Given the description of an element on the screen output the (x, y) to click on. 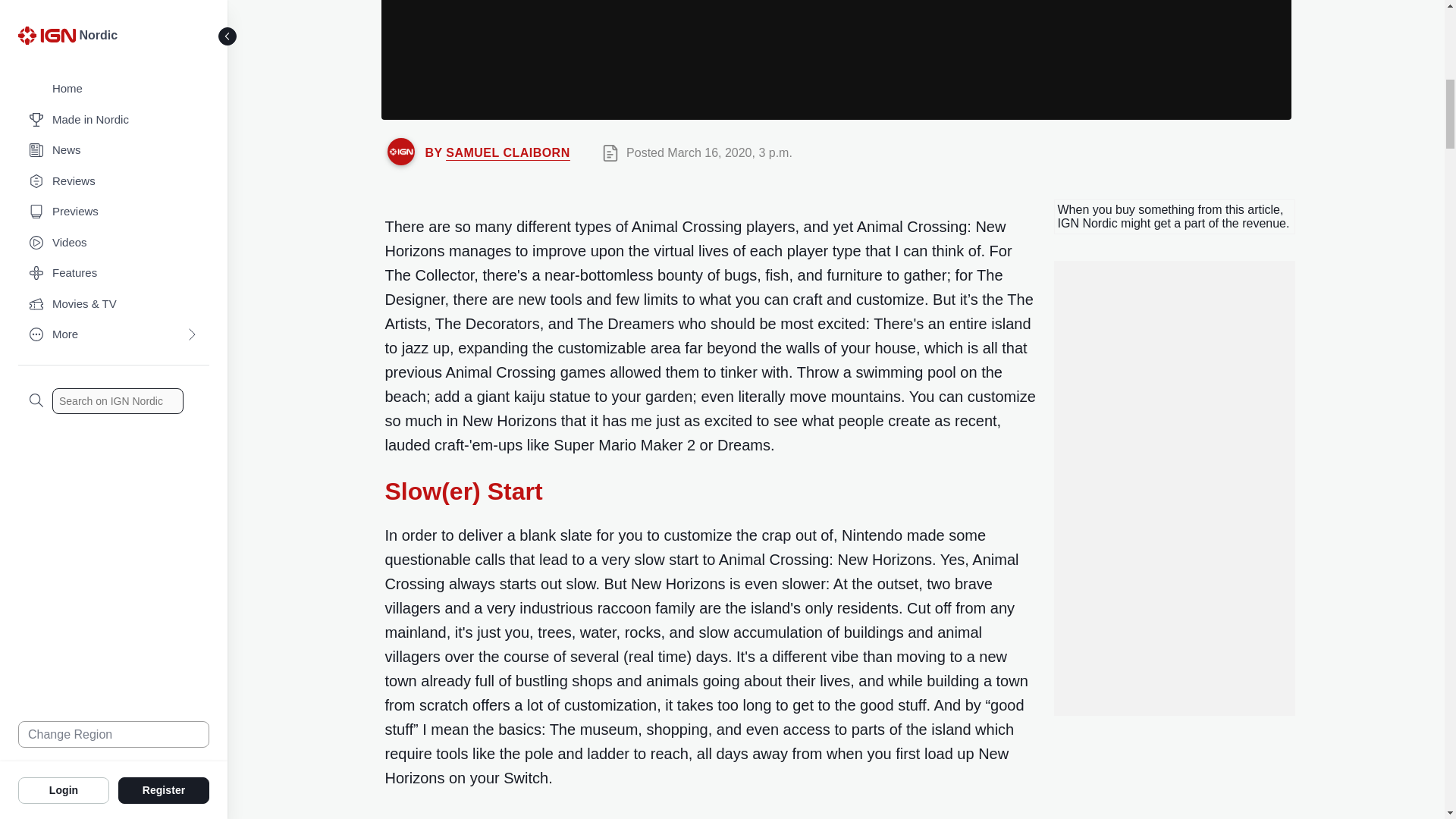
SAMUEL CLAIBORN (507, 152)
